Given the description of an element on the screen output the (x, y) to click on. 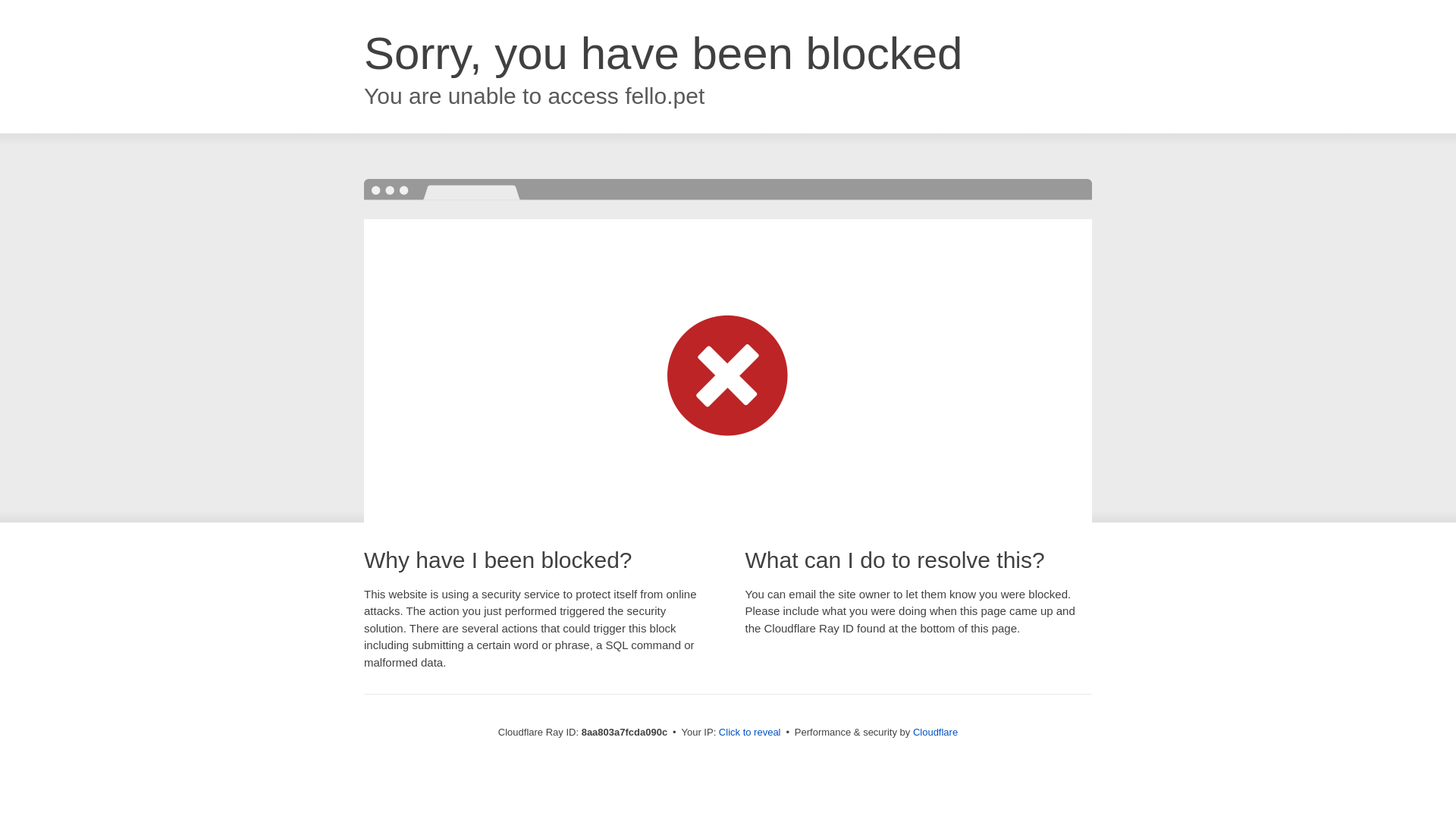
Click to reveal (749, 732)
Cloudflare (935, 731)
